Given the description of an element on the screen output the (x, y) to click on. 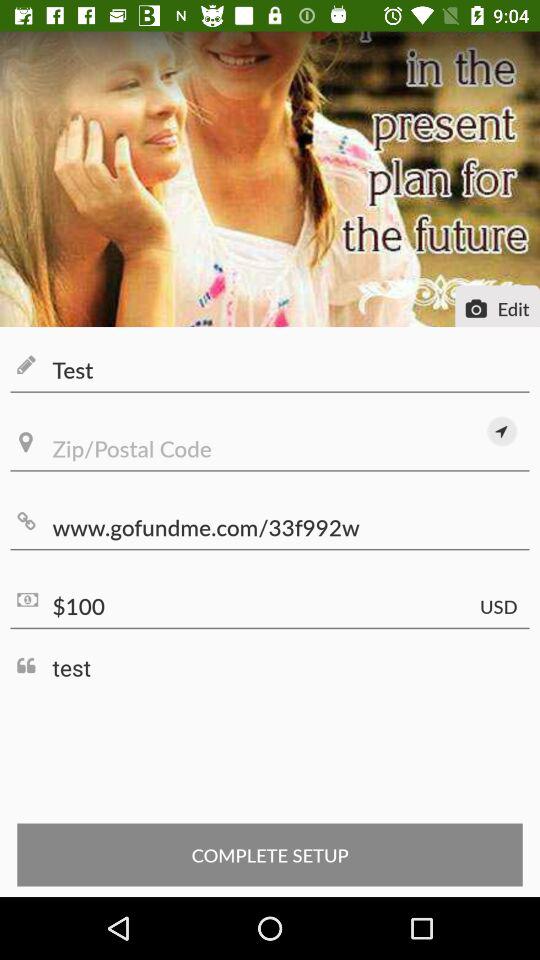
tap item above www gofundme com item (269, 448)
